Given the description of an element on the screen output the (x, y) to click on. 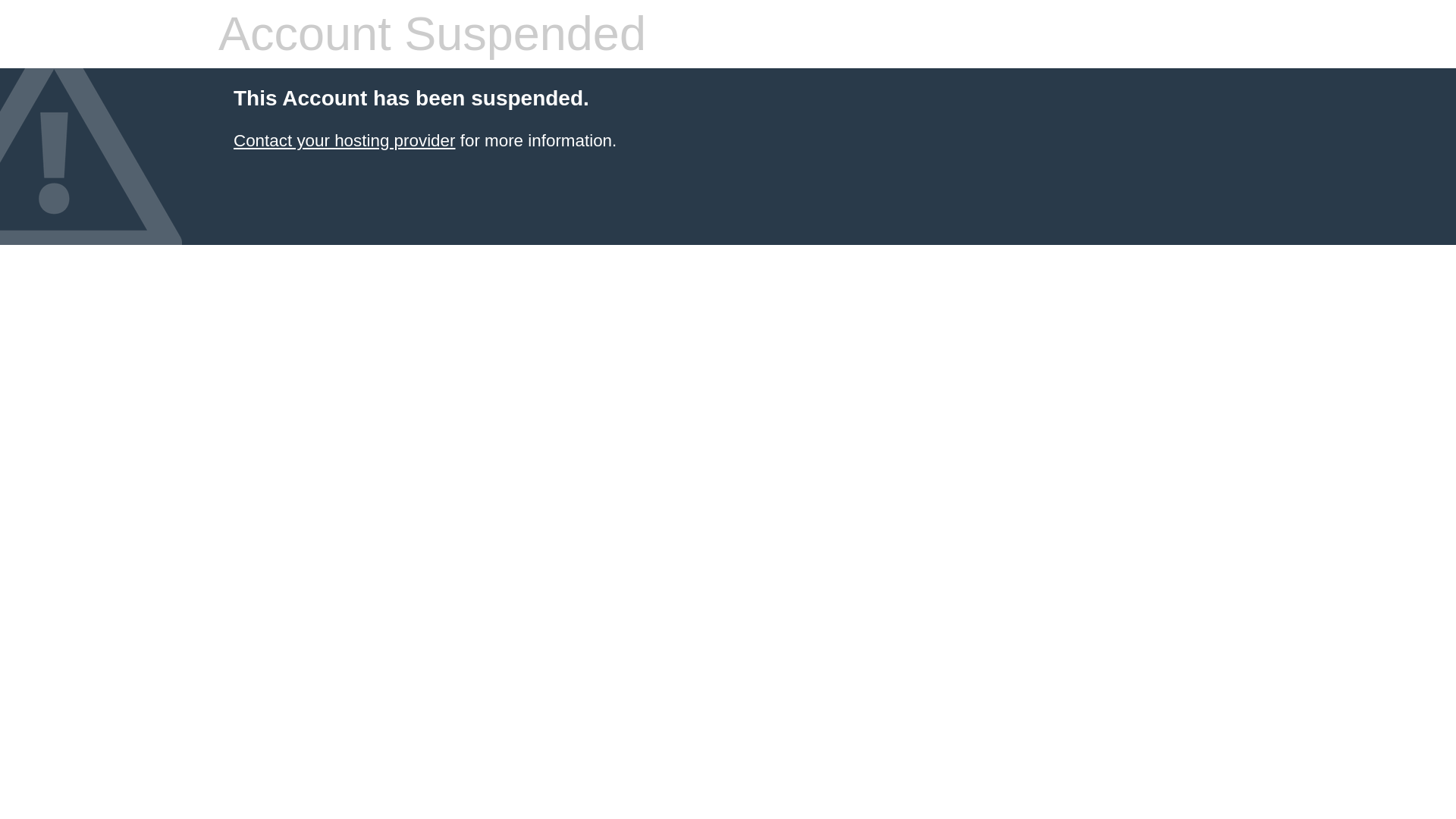
Websas.hu Kft (343, 140)
Contact your hosting provider (343, 140)
